Given the description of an element on the screen output the (x, y) to click on. 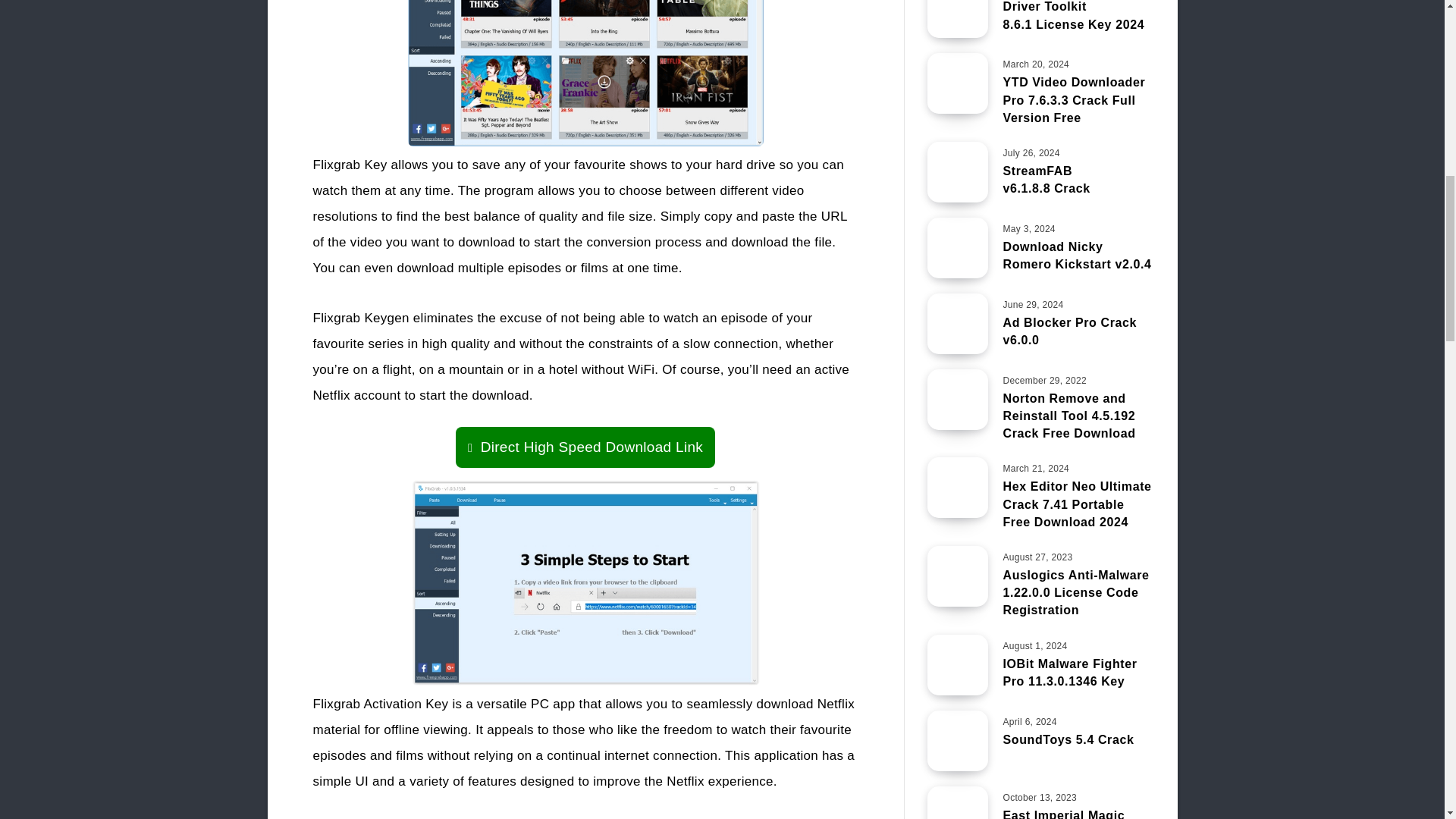
FlixGrab Premium 2024 Activation Key Download (584, 582)
Direct High Speed Download Link (584, 446)
FlixGrab Premium 2024 Activation Key Download (584, 73)
Direct High Speed Download Link (584, 447)
